Given the description of an element on the screen output the (x, y) to click on. 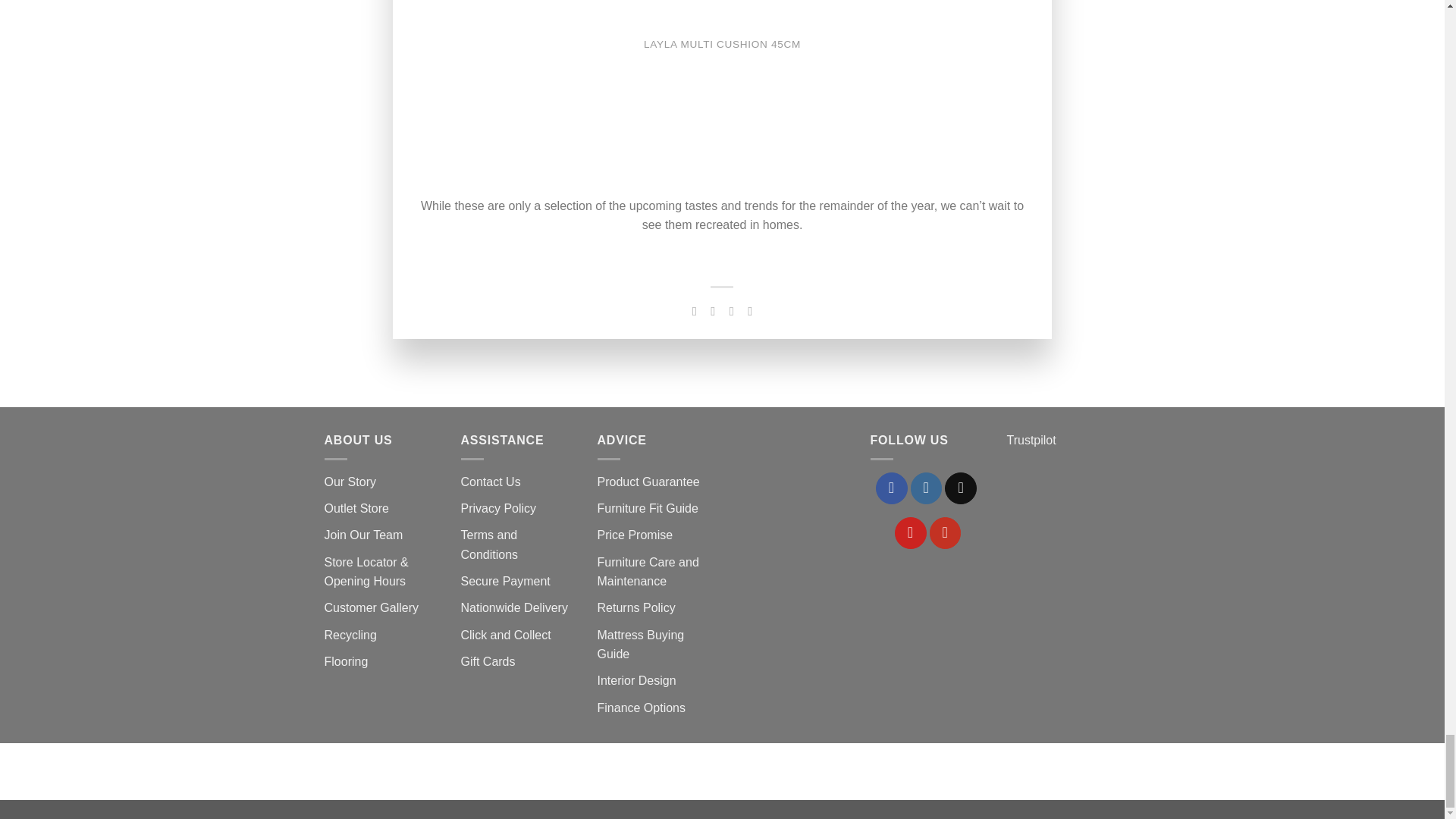
Share on Twitter (712, 310)
Email to a Friend (731, 310)
Follow on TikTok (960, 488)
Share on Facebook (694, 310)
Pin on Pinterest (749, 310)
Follow on Facebook (891, 488)
Follow on Instagram (926, 488)
